Given the description of an element on the screen output the (x, y) to click on. 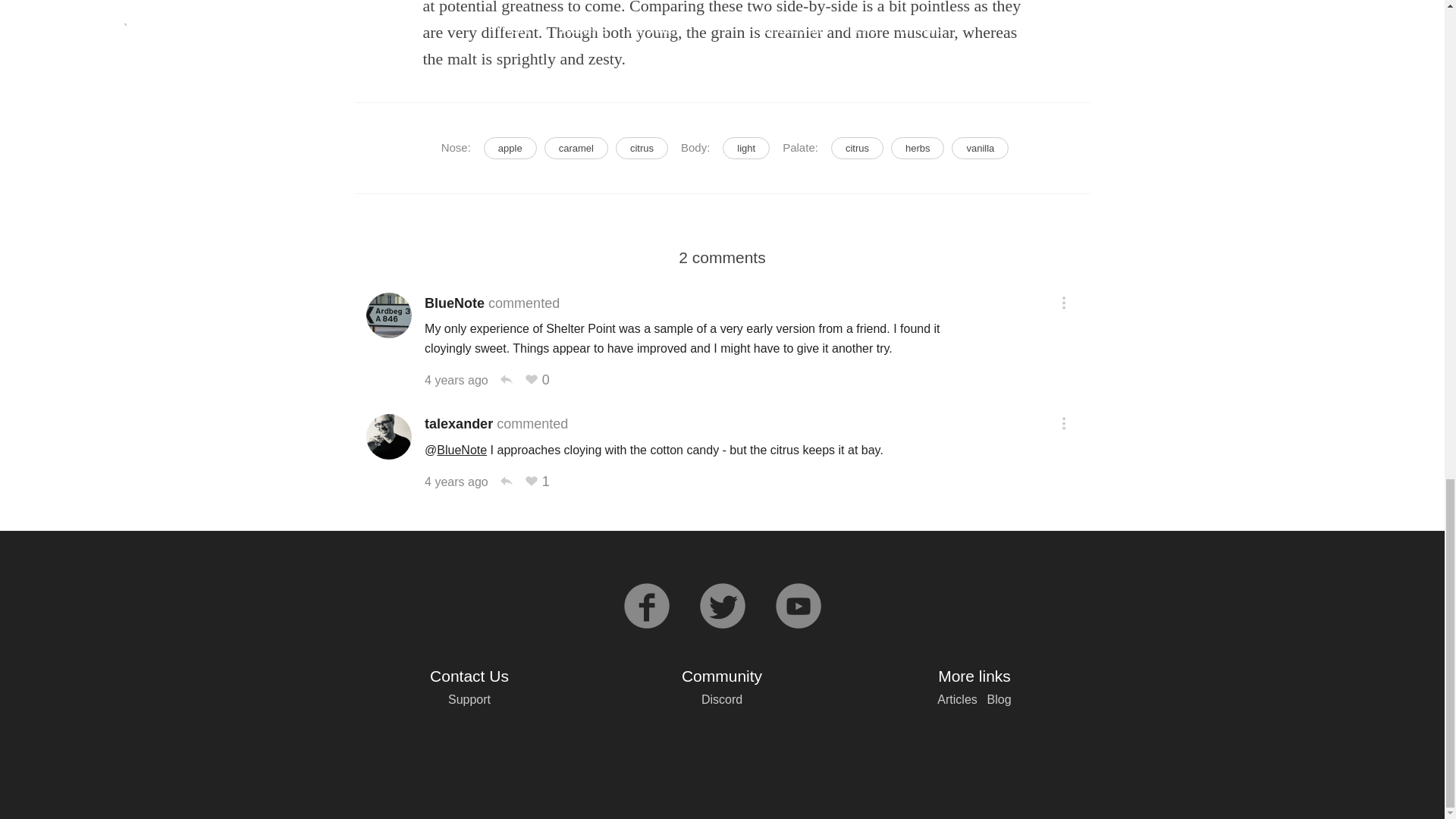
Blog (999, 698)
apple (510, 147)
herbs (917, 147)
Discord (721, 698)
citrus (857, 147)
caramel (576, 147)
caramel (576, 147)
Articles (956, 698)
light (746, 147)
citrus (857, 147)
